Given the description of an element on the screen output the (x, y) to click on. 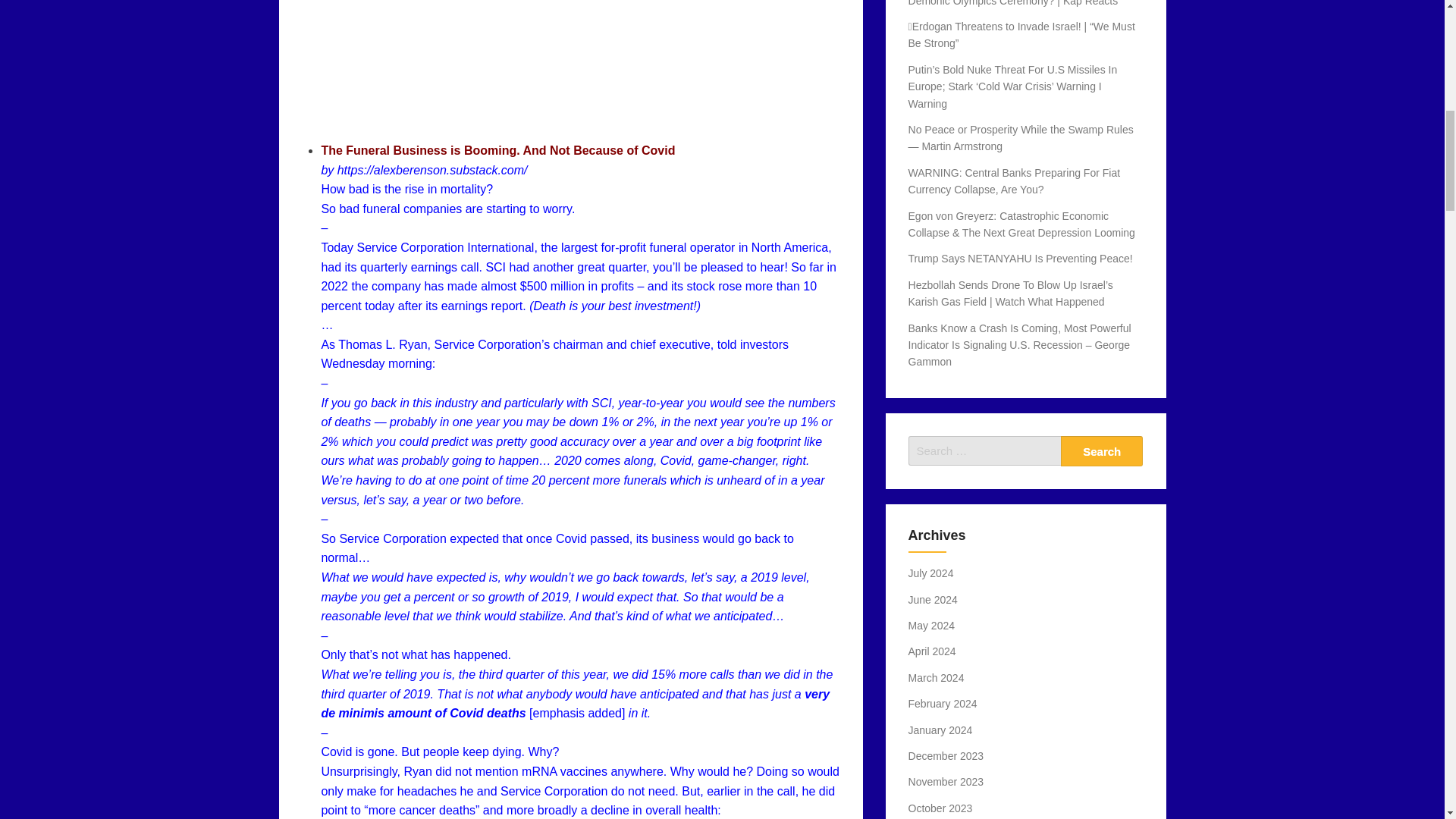
Search (1101, 450)
June 2024 (933, 599)
March 2024 (935, 677)
July 2024 (930, 573)
April 2024 (932, 651)
Search (1101, 450)
Search (1101, 450)
February 2024 (942, 703)
May 2024 (931, 625)
January 2024 (940, 729)
The Funeral Business is Booming. And Not Because of Covid (497, 150)
Trump Says NETANYAHU Is Preventing Peace! (1020, 258)
told investors Wednesday morning (554, 354)
